Given the description of an element on the screen output the (x, y) to click on. 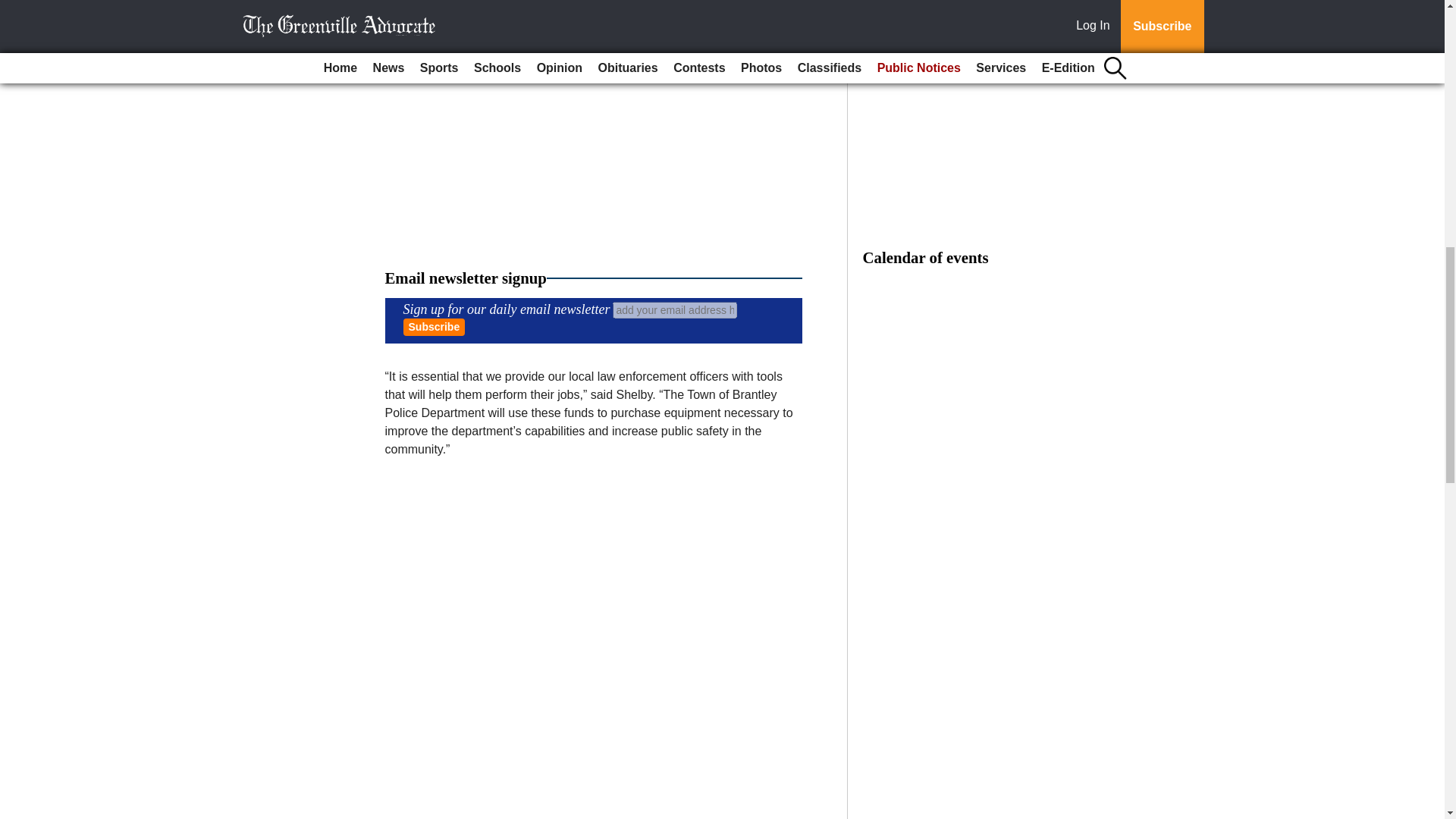
Subscribe (434, 326)
Subscribe (434, 326)
